Given the description of an element on the screen output the (x, y) to click on. 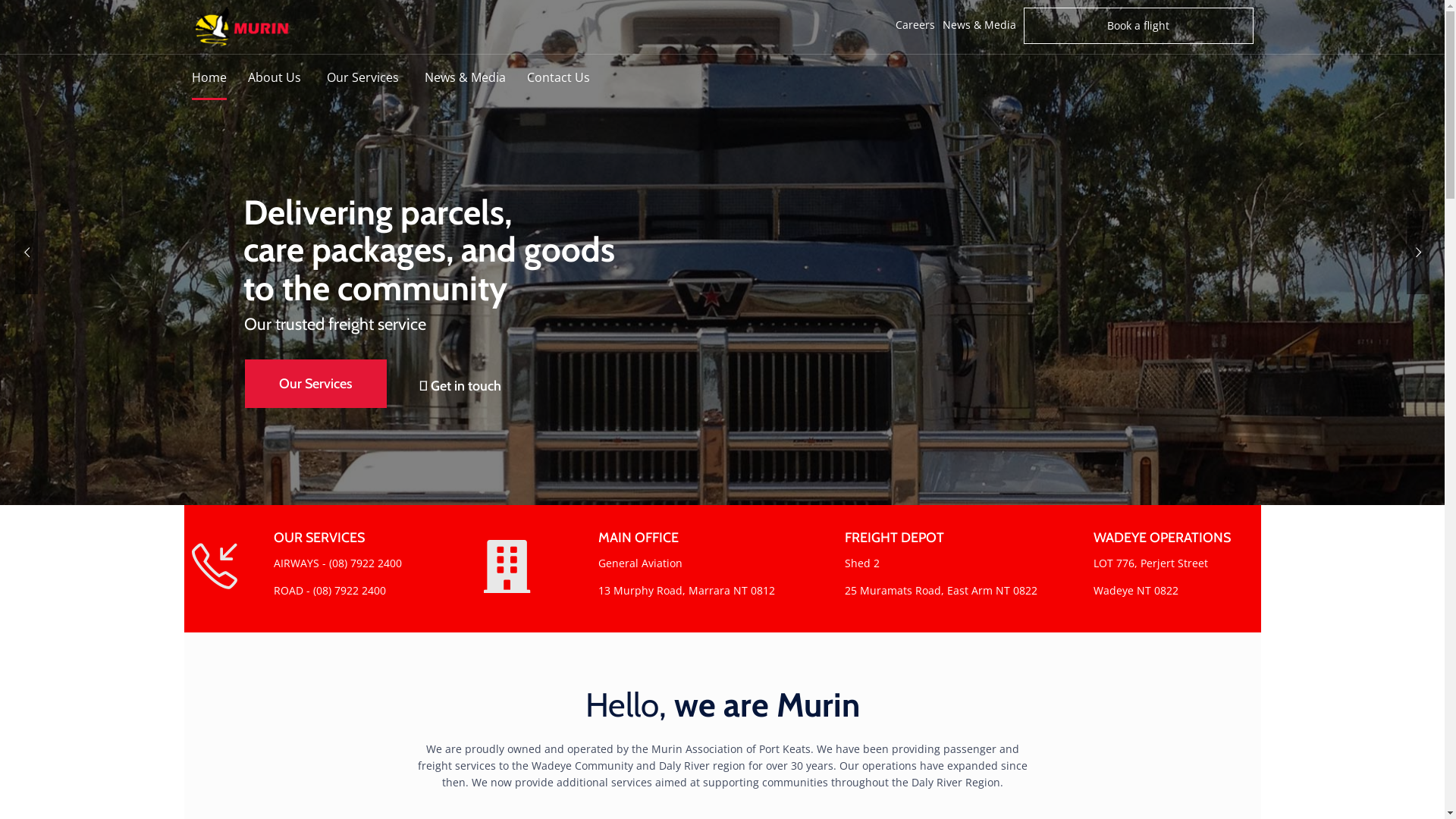
Contact Us Element type: text (568, 77)
News & Media Element type: text (475, 77)
Shed Element type: text (857, 563)
13 Murphy Road, Marrara NT Element type: text (672, 590)
Careers Element type: text (911, 24)
News & Media Element type: text (975, 24)
Skip to content Element type: text (721, 53)
Home Element type: text (219, 77)
Our Services Element type: text (374, 77)
Book a flight Element type: text (1138, 25)
About Us Element type: text (286, 77)
Murin Element type: hover (247, 26)
